Given the description of an element on the screen output the (x, y) to click on. 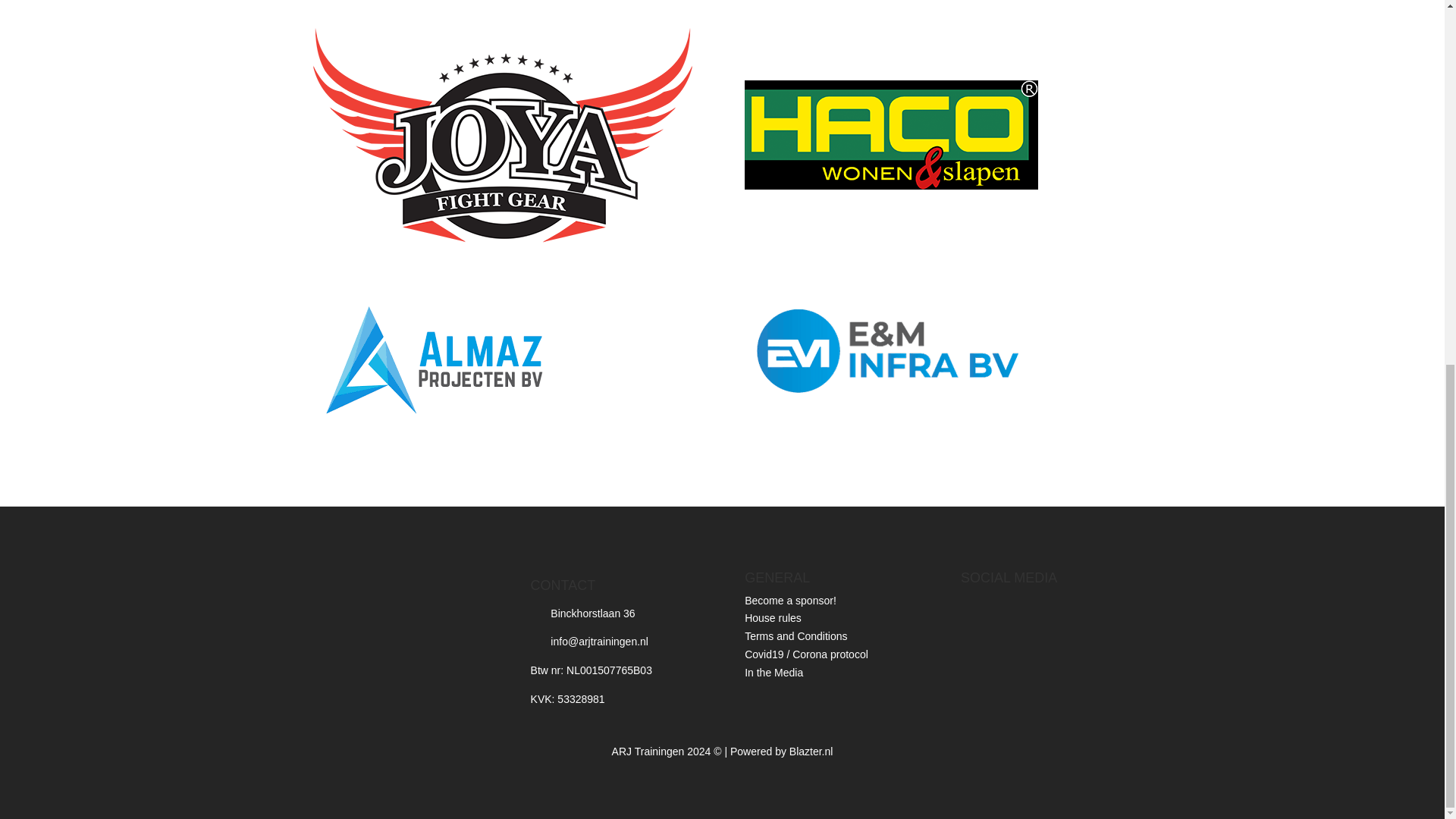
In de pers (773, 672)
